Given the description of an element on the screen output the (x, y) to click on. 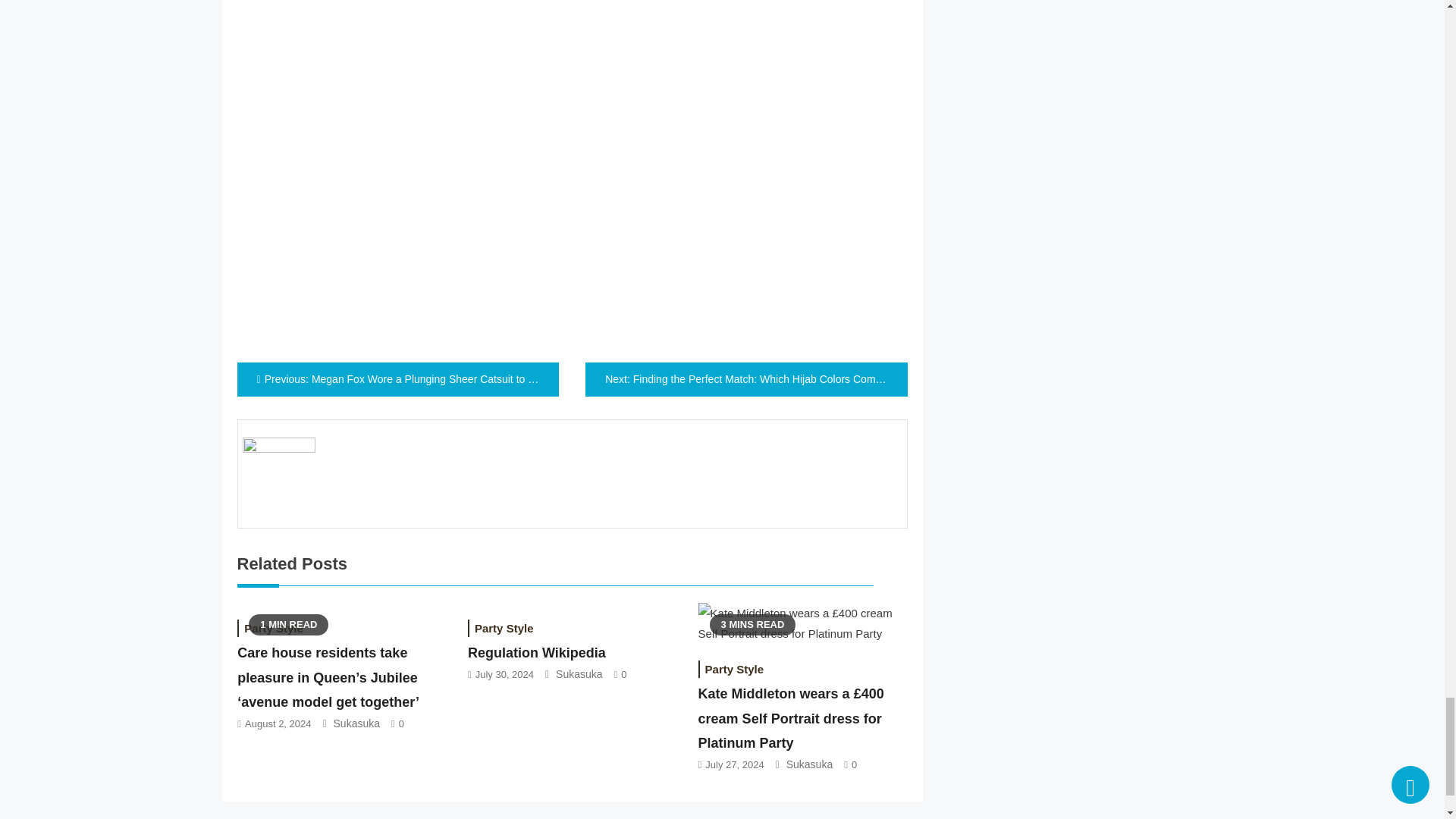
Party Style (734, 669)
August 2, 2024 (277, 723)
Sukasuka (356, 723)
July 30, 2024 (505, 674)
July 27, 2024 (733, 764)
Party Style (273, 628)
Regulation Wikipedia (536, 652)
Sukasuka (579, 674)
Sukasuka (809, 764)
Party Style (503, 628)
